Given the description of an element on the screen output the (x, y) to click on. 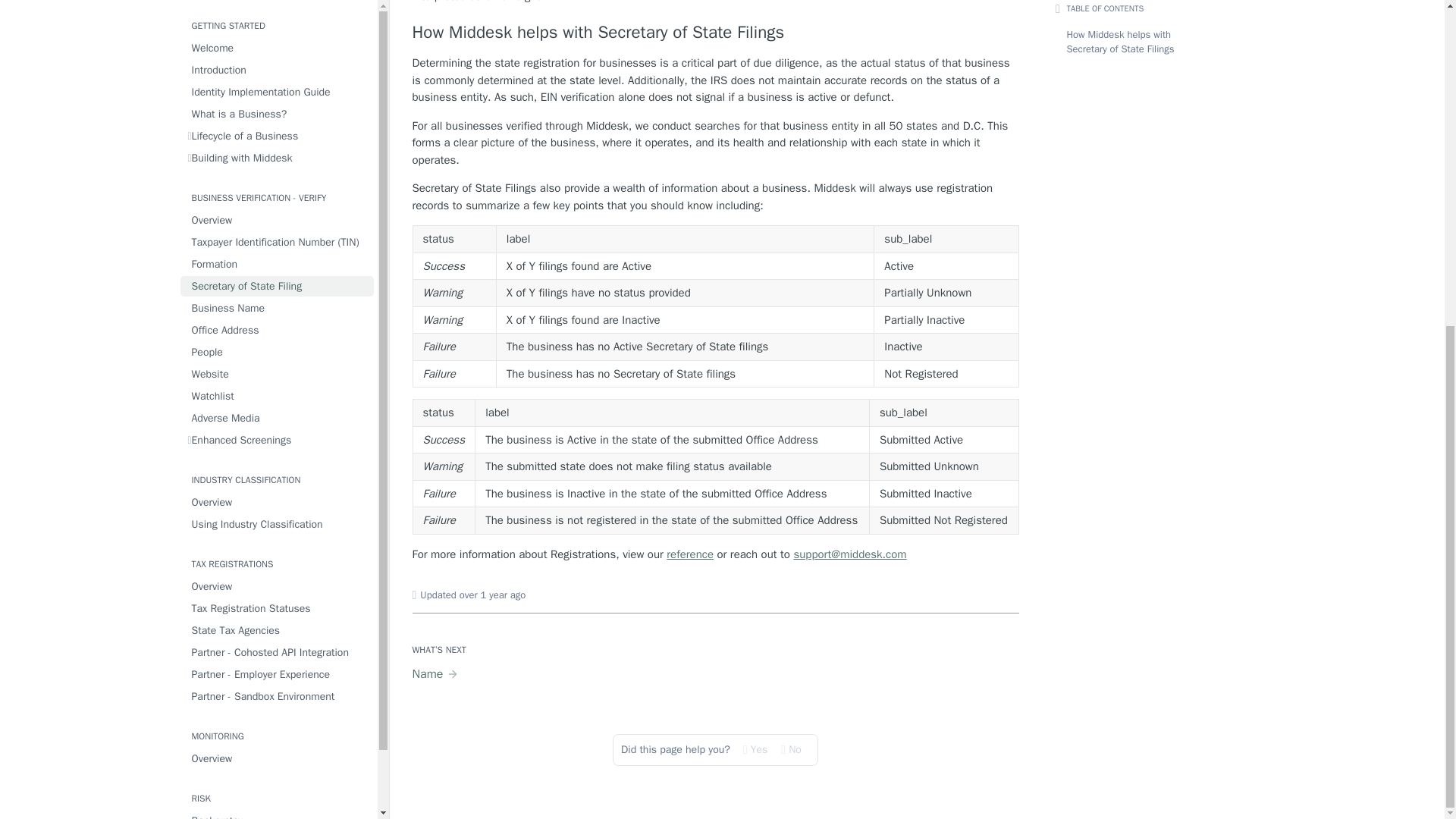
How Middesk helps with Secretary of State Filings (715, 32)
